Given the description of an element on the screen output the (x, y) to click on. 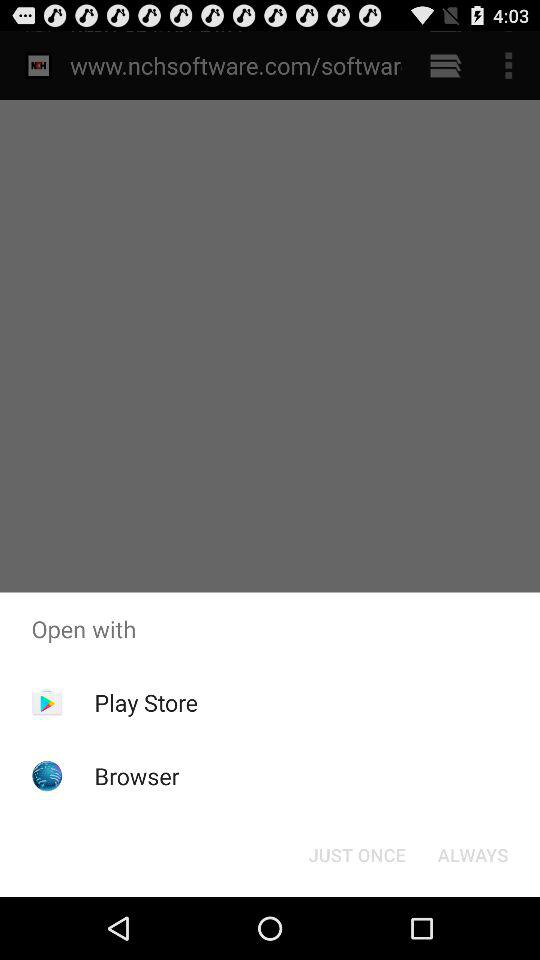
select app below the play store icon (136, 775)
